Given the description of an element on the screen output the (x, y) to click on. 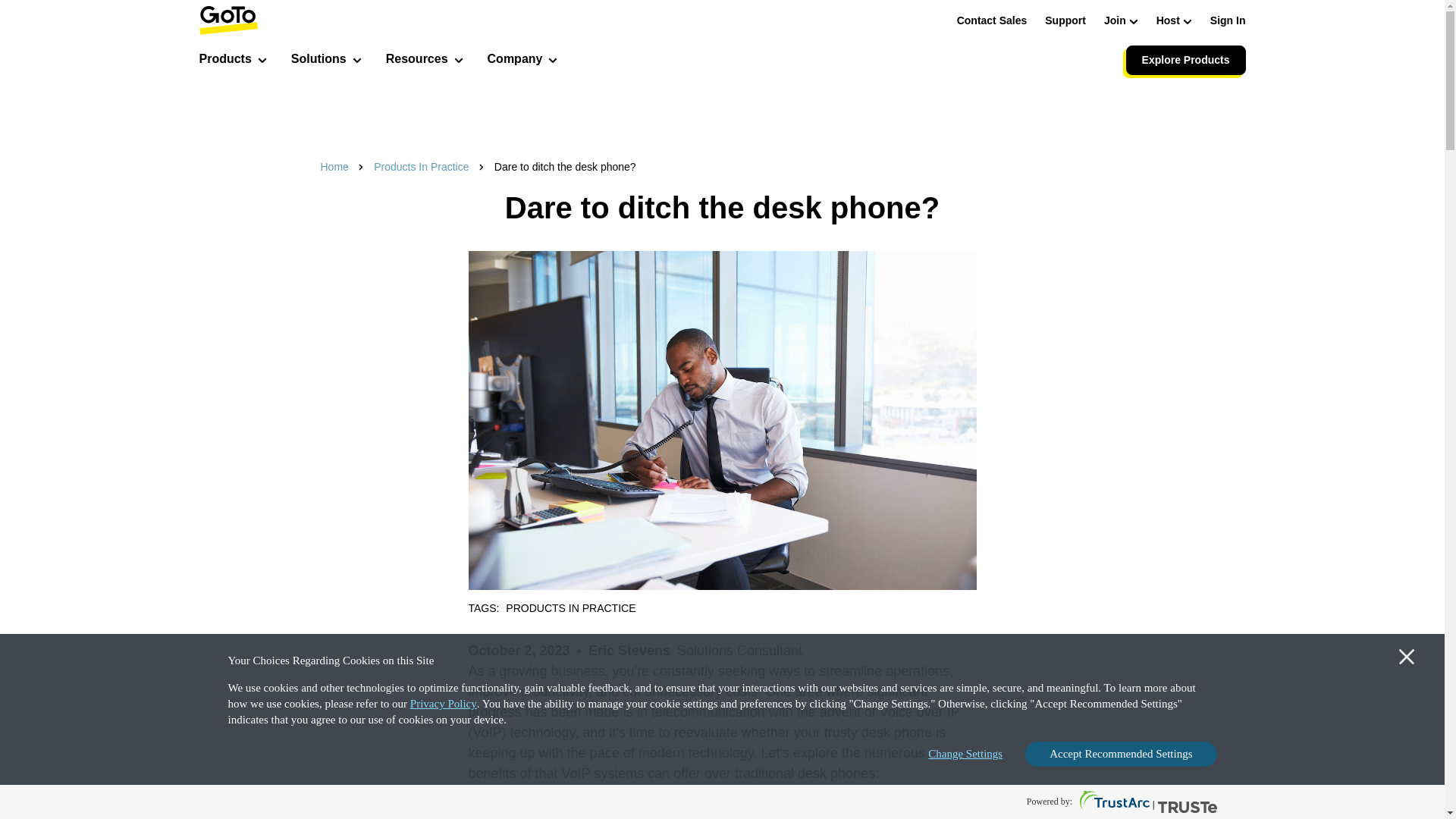
Products (232, 61)
Solutions (326, 61)
